Given the description of an element on the screen output the (x, y) to click on. 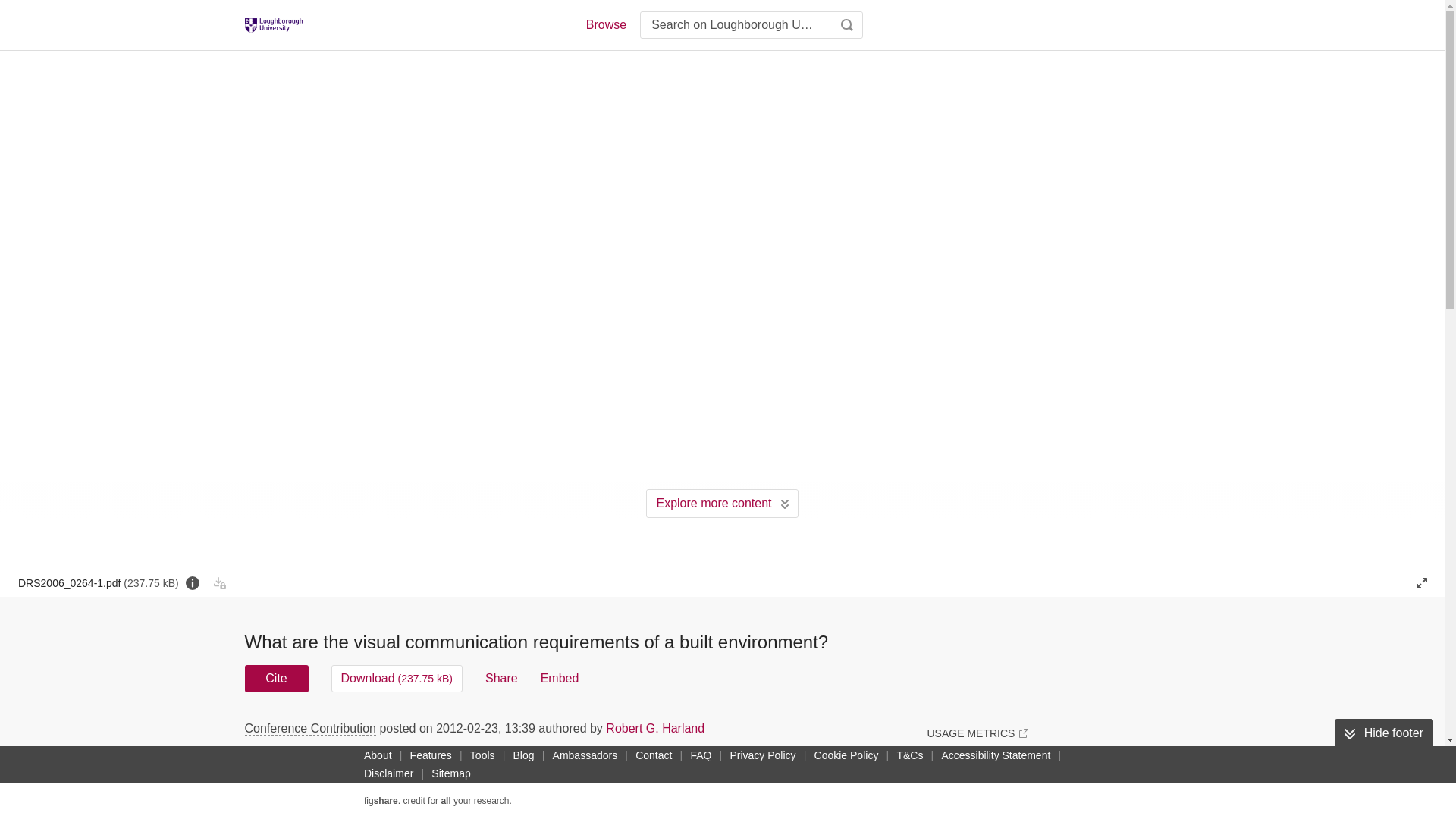
Cite (275, 678)
Tools (482, 755)
Browse (605, 24)
Ambassadors (585, 755)
About (377, 755)
Share (501, 678)
Embed (559, 678)
USAGE METRICS (976, 732)
Contact (653, 755)
Explore more content (721, 502)
FAQ (700, 755)
Blog (523, 755)
Features (431, 755)
Privacy Policy (762, 755)
Hide footer (1383, 733)
